Given the description of an element on the screen output the (x, y) to click on. 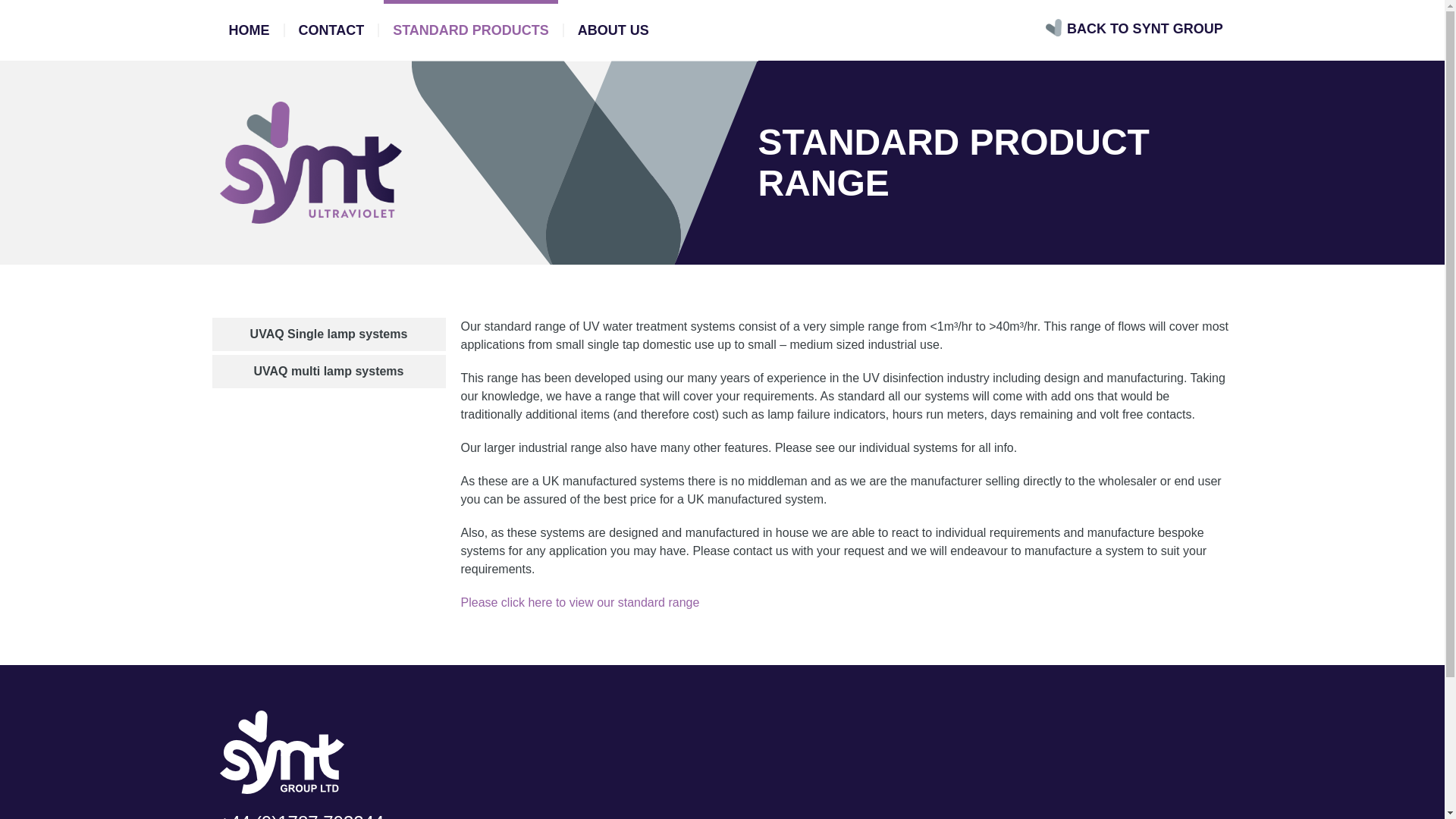
Please click here to view our standard range (580, 602)
ABOUT US (613, 30)
HOME (249, 30)
BACK TO SYNT GROUP (1145, 28)
STANDARD PRODUCTS (470, 30)
CONTACT (331, 30)
UVAQ Single lamp systems (328, 334)
UVAQ multi lamp systems (328, 371)
